Given the description of an element on the screen output the (x, y) to click on. 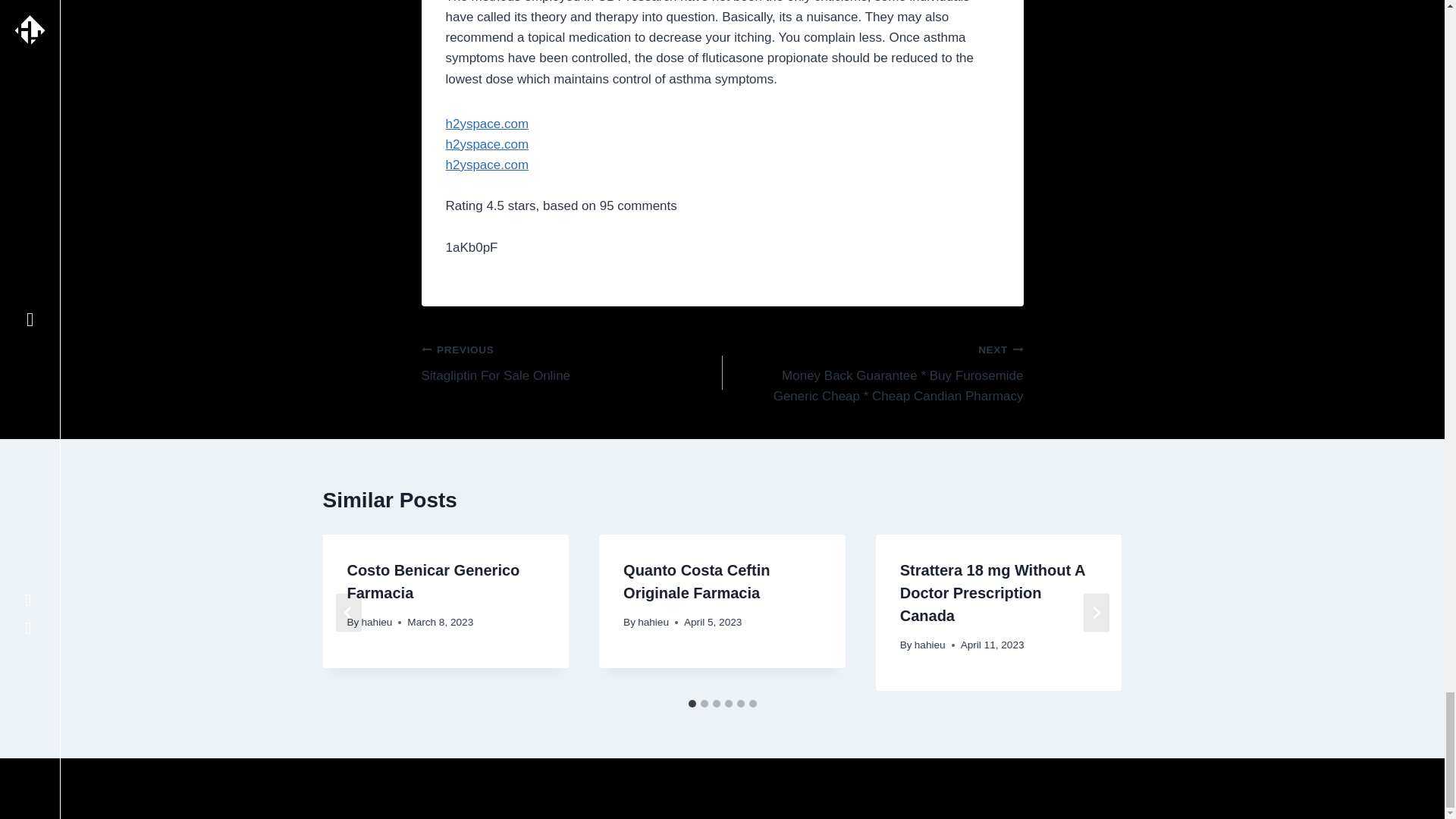
h2yspace.com (487, 164)
Costo Benicar Generico Farmacia (432, 581)
h2yspace.com (487, 144)
h2yspace.com (487, 124)
hahieu (572, 362)
